Given the description of an element on the screen output the (x, y) to click on. 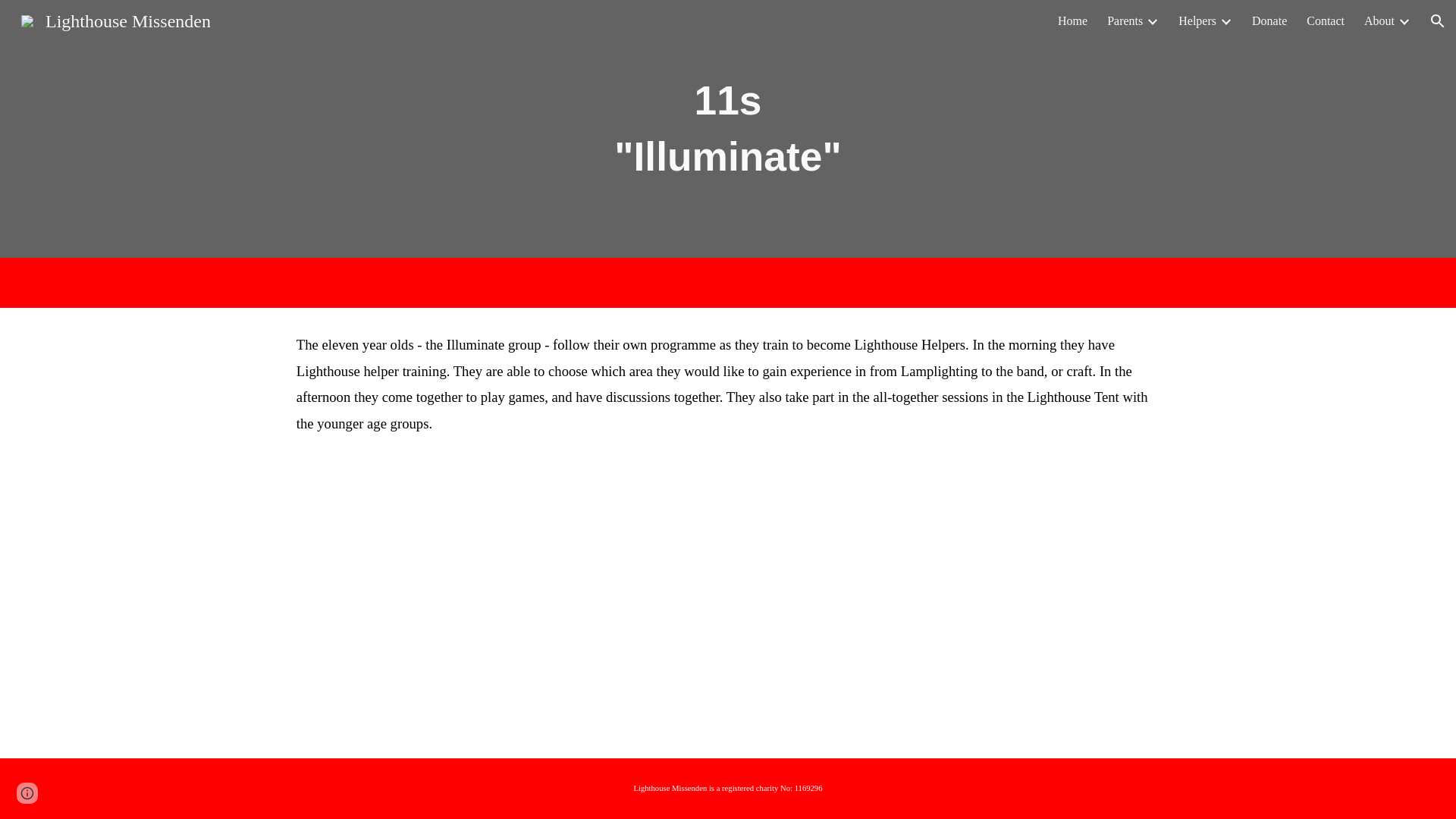
Contact (1324, 20)
About (1379, 20)
Parents (1124, 20)
Home (1072, 20)
Lighthouse Missenden (115, 19)
Donate (1269, 20)
Helpers (1196, 20)
